Given the description of an element on the screen output the (x, y) to click on. 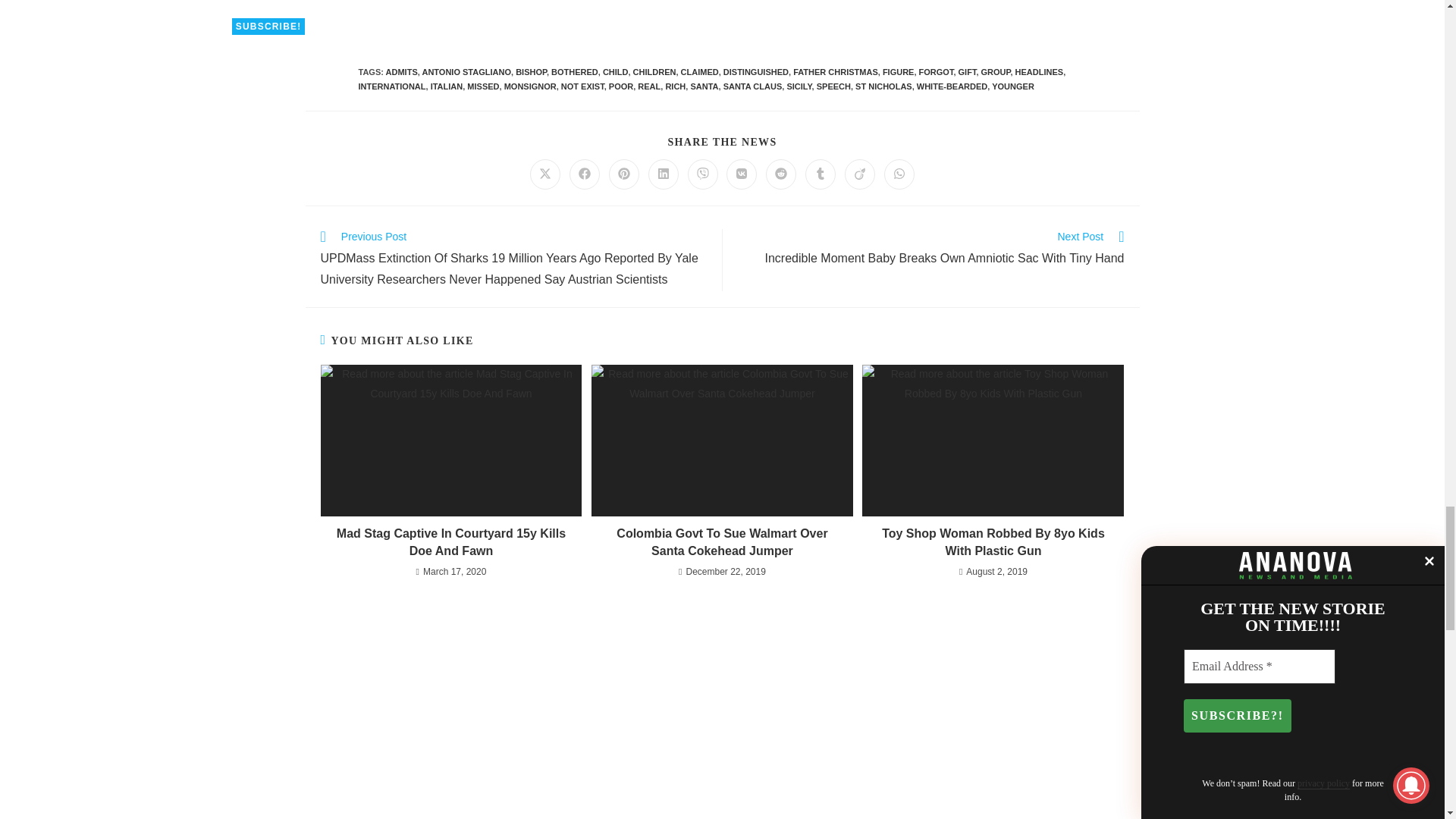
Subscribe! (268, 26)
